Given the description of an element on the screen output the (x, y) to click on. 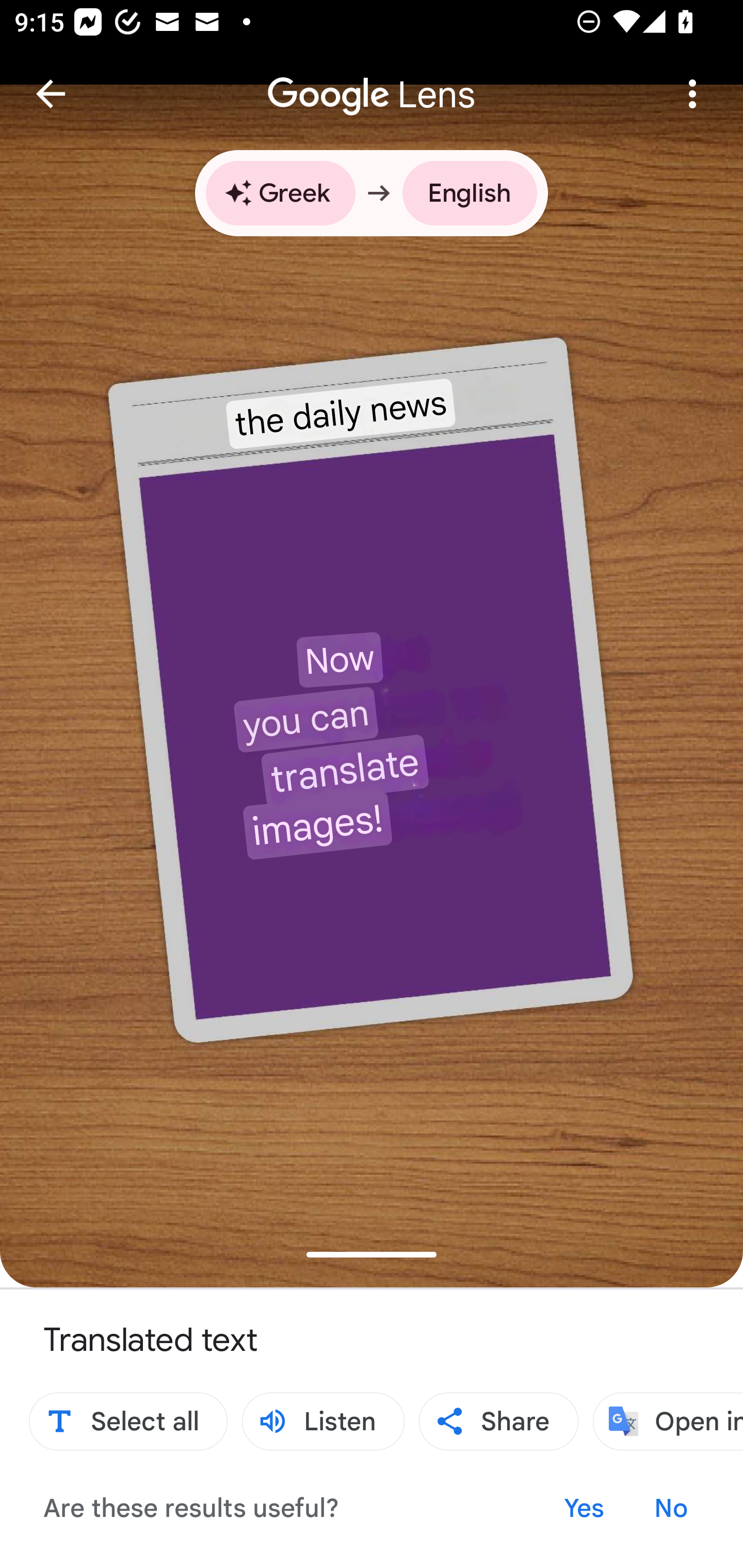
Google Lens Lens (371, 80)
Go back (50, 94)
More options (692, 94)
Greek Original language auto-detect Greek (280, 193)
English Translated language English (469, 193)
Select all (127, 1421)
Listen Listen to selected text (323, 1421)
Share Share translated image (498, 1421)
Open in Translate (667, 1421)
Yes Yes, these results are useful. (583, 1507)
No No, these results are not useful. (670, 1507)
